Given the description of an element on the screen output the (x, y) to click on. 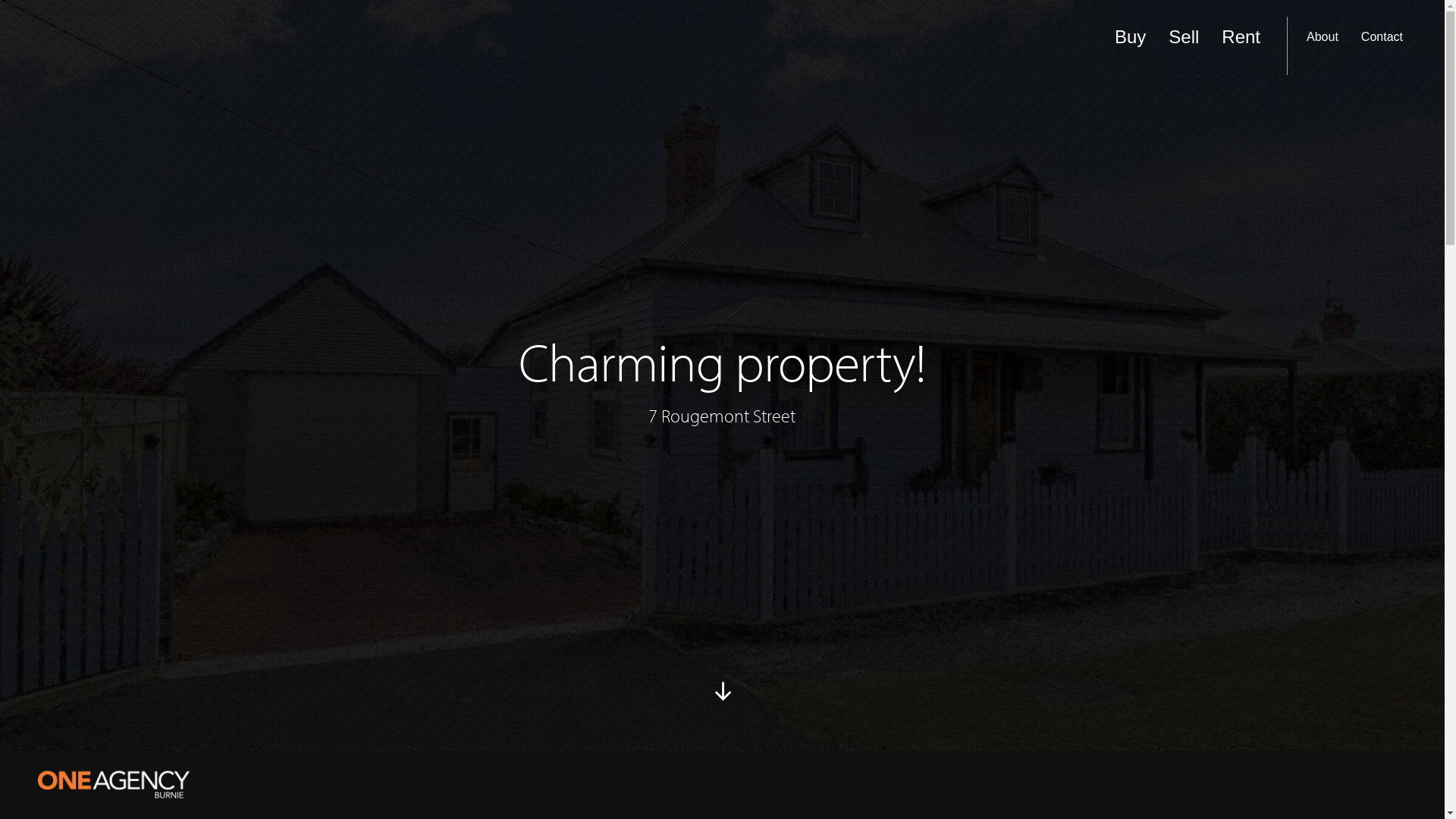
Sell Element type: text (1183, 45)
Contact Element type: text (1381, 45)
About Element type: text (1322, 45)
Rent Element type: text (1240, 45)
One Agency Burnie Element type: hover (113, 784)
search Element type: text (1371, 34)
Buy Element type: text (1130, 45)
